Given the description of an element on the screen output the (x, y) to click on. 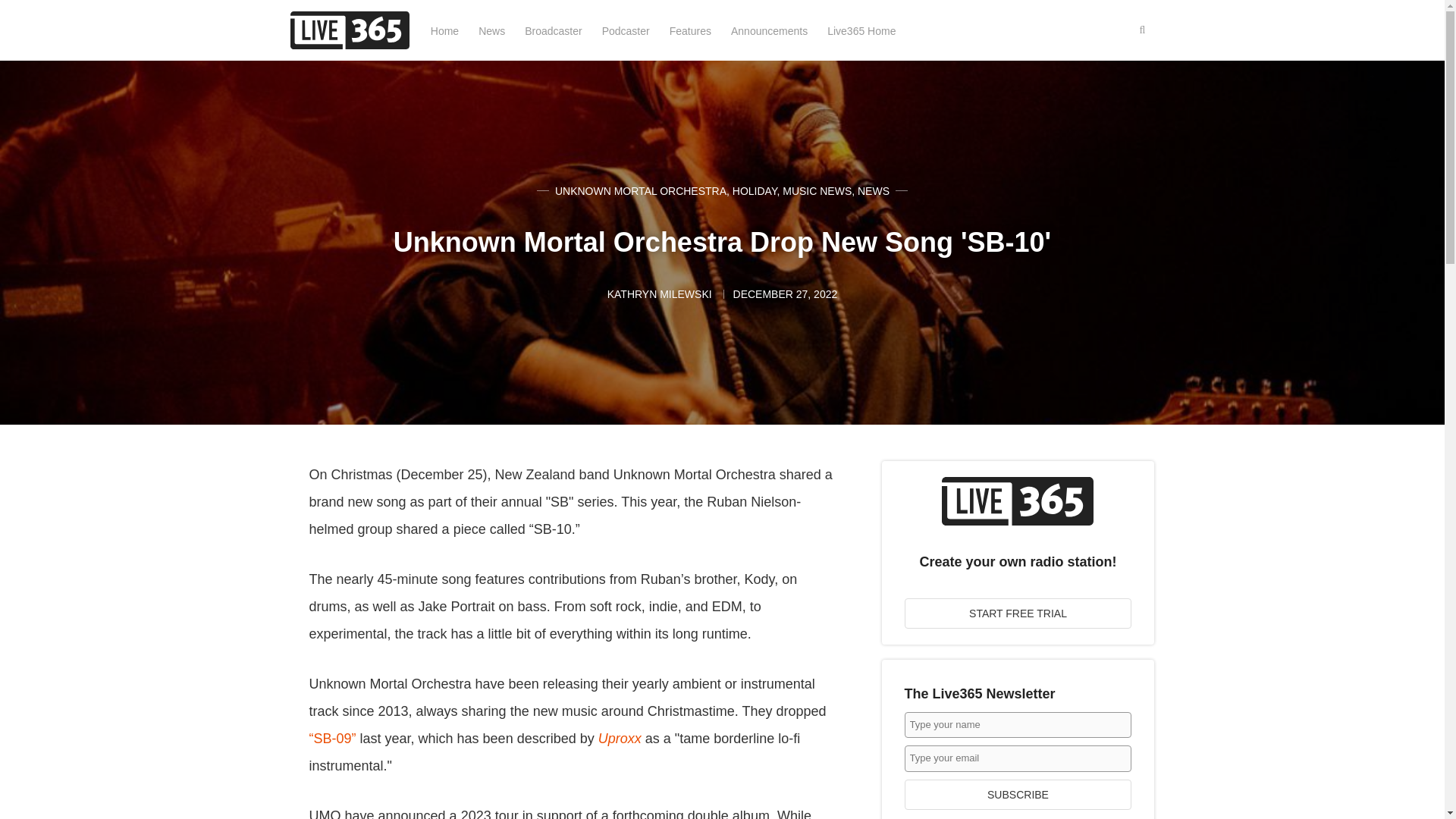
Announcements (769, 30)
KATHRYN MILEWSKI (660, 294)
NEWS (873, 191)
Home (444, 30)
News (492, 30)
MUSIC NEWS (817, 191)
Podcaster (625, 30)
Features (690, 30)
START FREE TRIAL (1017, 613)
HOLIDAY (754, 191)
Live365 Home (861, 30)
Uproxx (620, 738)
UNKNOWN MORTAL ORCHESTRA (640, 191)
Broadcaster (552, 30)
